Given the description of an element on the screen output the (x, y) to click on. 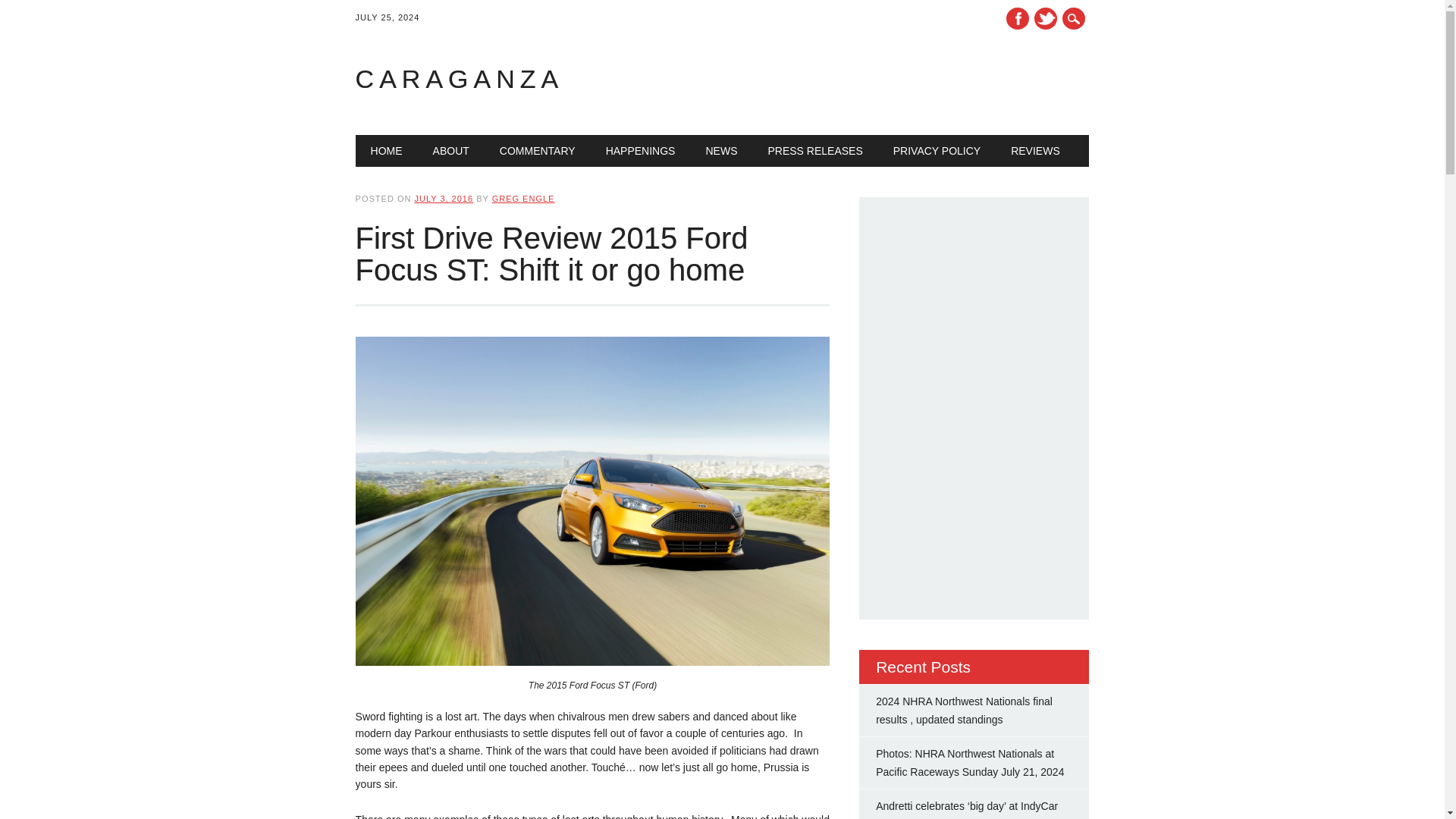
JULY 3, 2016 (443, 198)
NEWS (721, 151)
COMMENTARY (537, 151)
REVIEWS (1035, 151)
PRIVACY POLICY (936, 151)
View all posts by Greg Engle (523, 198)
Caraganza (459, 78)
ABOUT (450, 151)
PRESS RELEASES (814, 151)
Advertisement (895, 78)
Facebook (1017, 18)
Advertisement (989, 503)
5:33 pm (443, 198)
GREG ENGLE (523, 198)
Twitter (1045, 18)
